Given the description of an element on the screen output the (x, y) to click on. 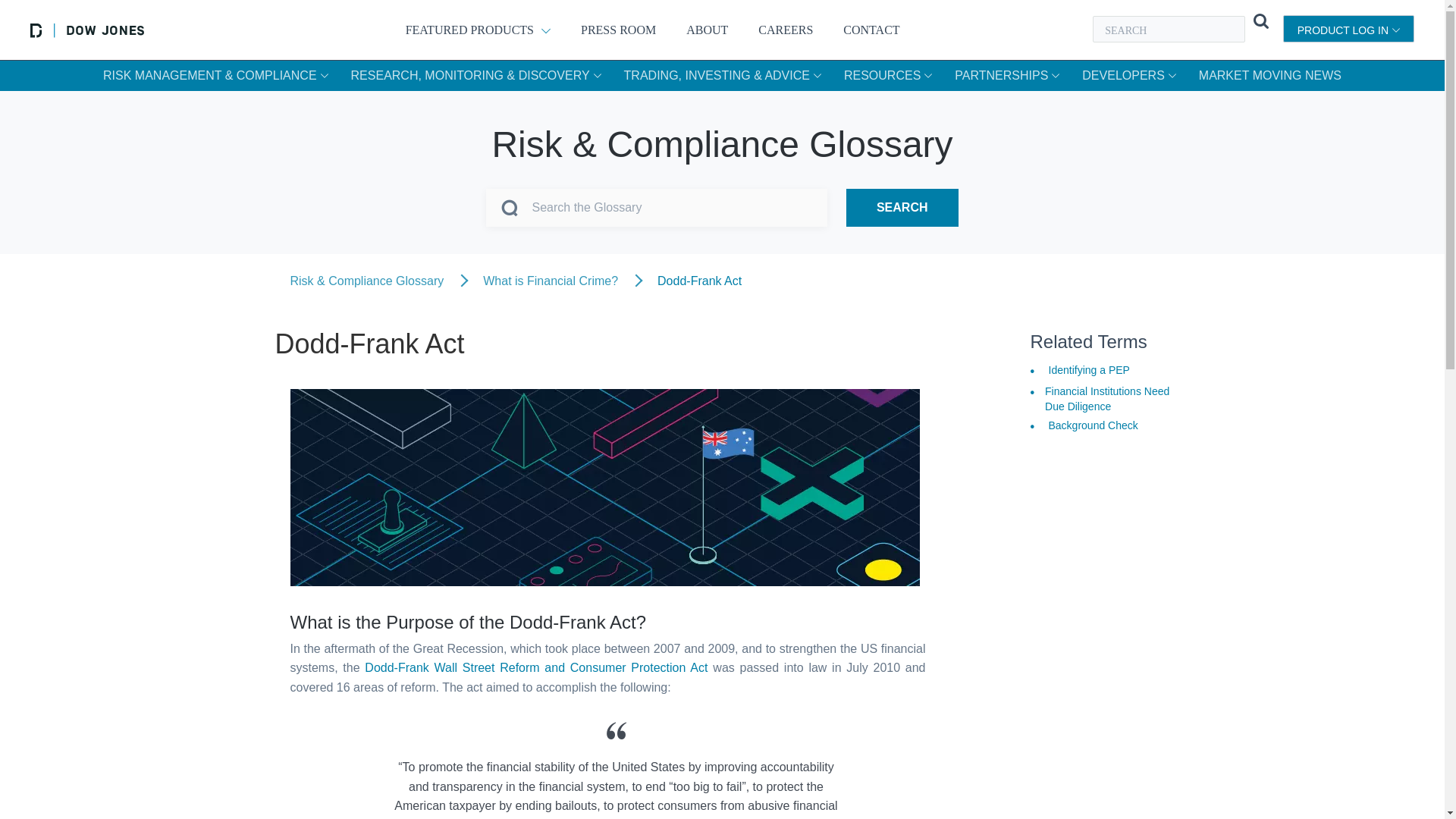
FEATURED PRODUCTS (478, 29)
SEARCH (901, 207)
CAREERS (785, 29)
PRESS ROOM (618, 29)
ABOUT (706, 29)
CONTACT (871, 29)
PRODUCT LOG IN (1347, 28)
